Given the description of an element on the screen output the (x, y) to click on. 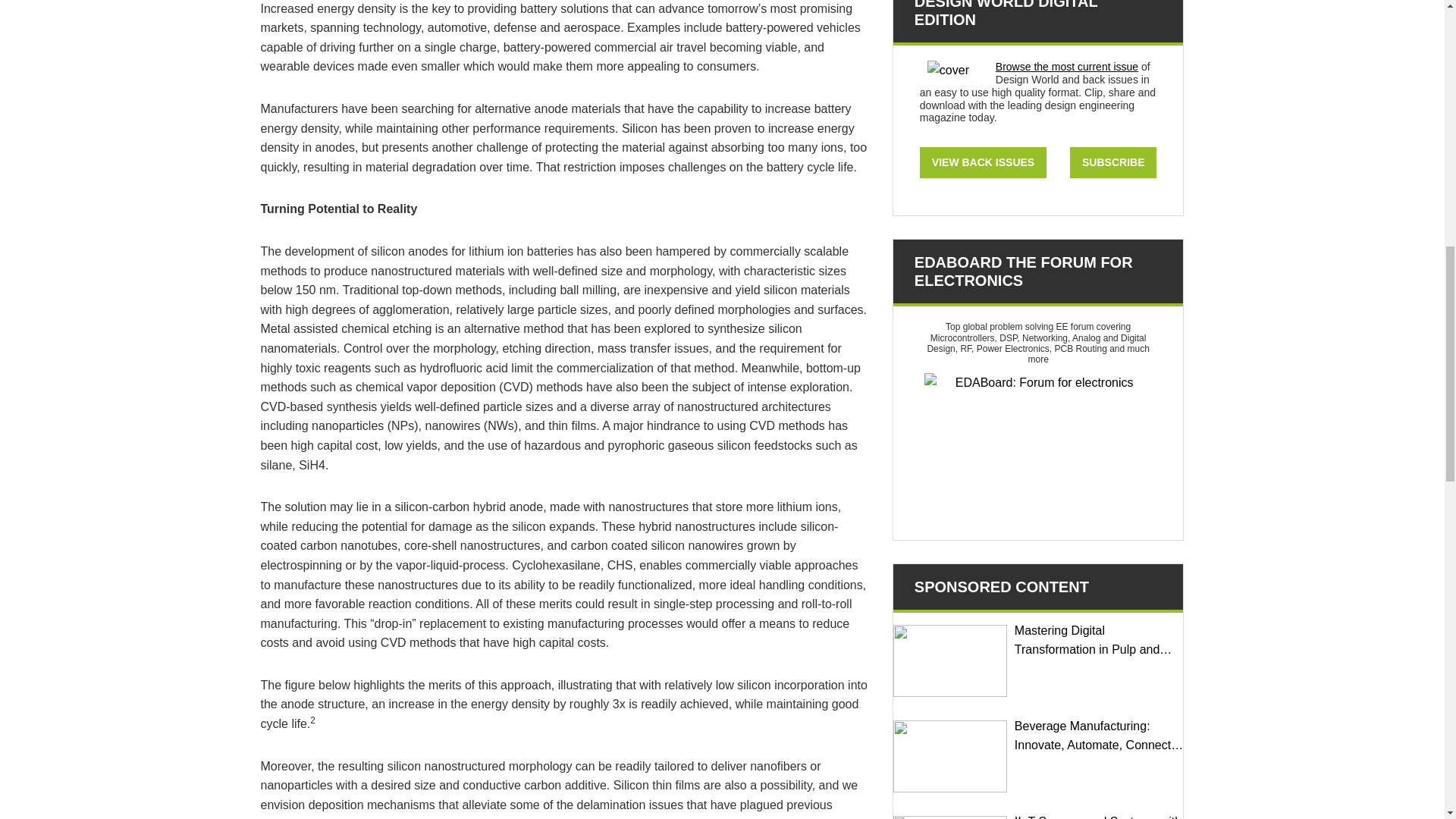
EDABoard: Forum for electronics (1037, 448)
Beverage Manufacturing: Innovate, Automate, Connect, Grow (950, 756)
Mastering Digital Transformation in Pulp and Paper (950, 660)
IIoT Sensors and Systems with IO-LINK (950, 817)
